Given the description of an element on the screen output the (x, y) to click on. 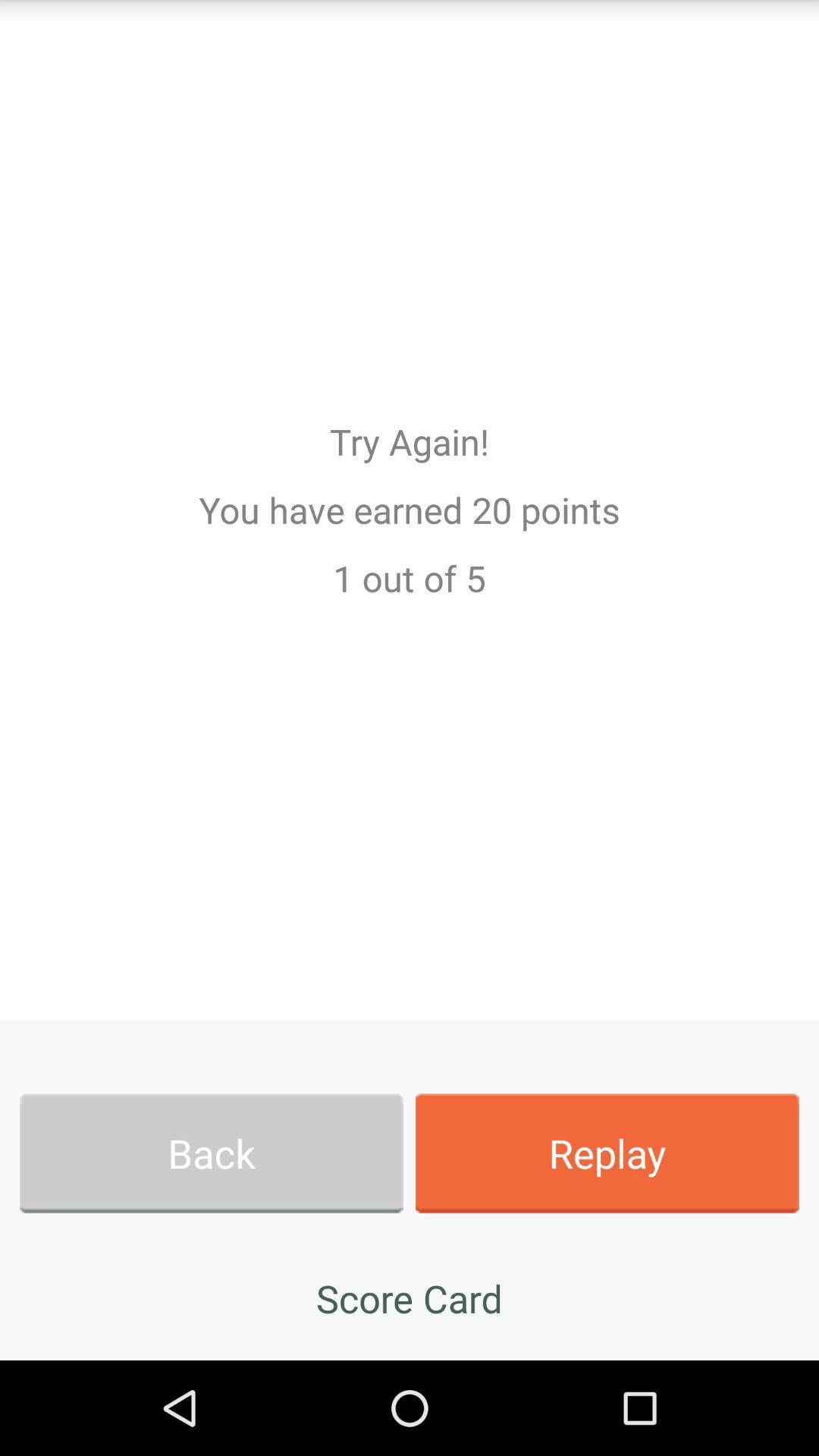
turn off the back icon (211, 1153)
